Given the description of an element on the screen output the (x, y) to click on. 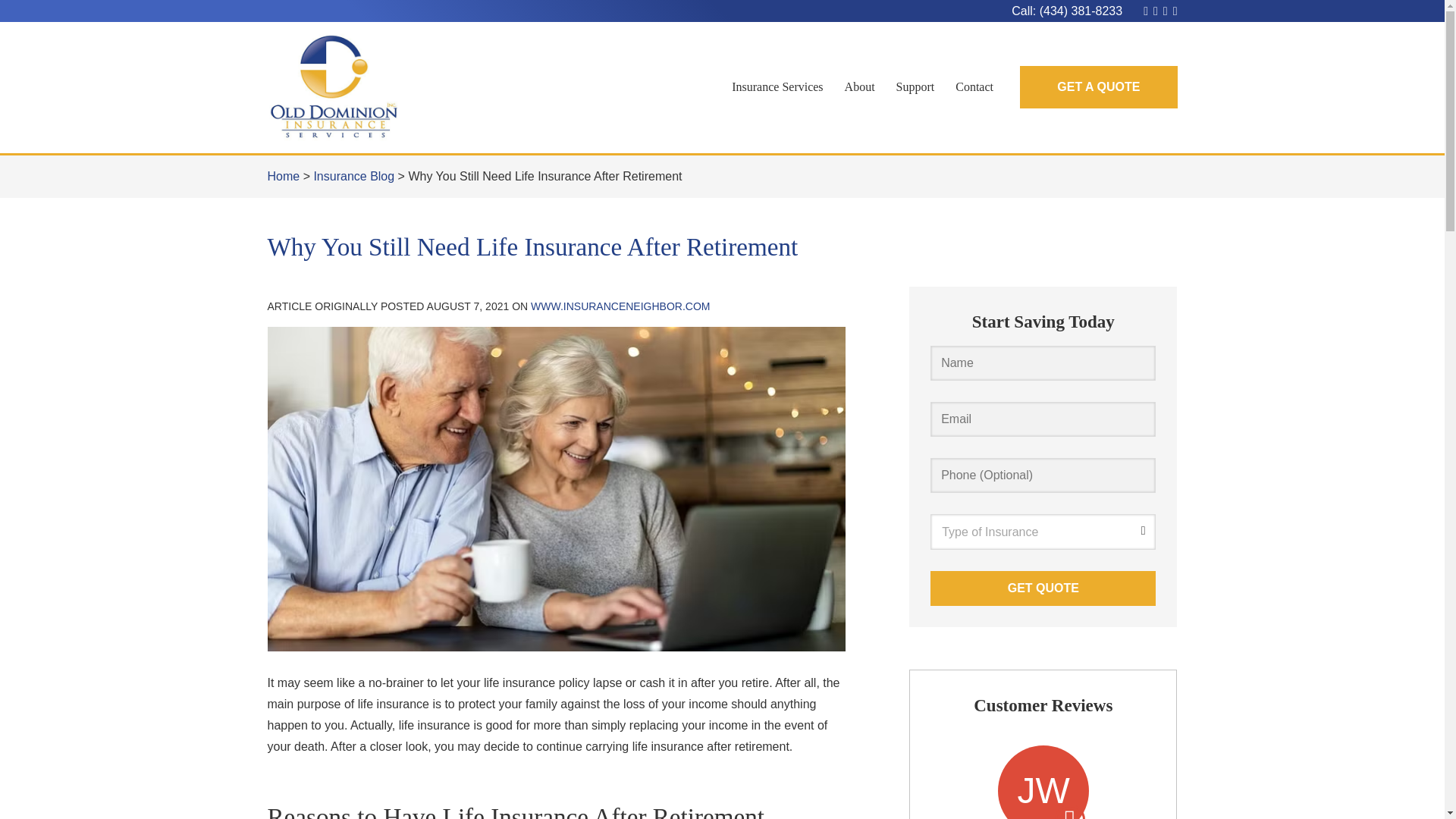
About (859, 87)
LinkedIn (1165, 10)
Instagram (1175, 10)
Support (914, 87)
Facebook (1155, 10)
Google Maps (1145, 10)
Home Page (372, 87)
Insurance Services (776, 87)
Get Quote (1043, 588)
